Given the description of an element on the screen output the (x, y) to click on. 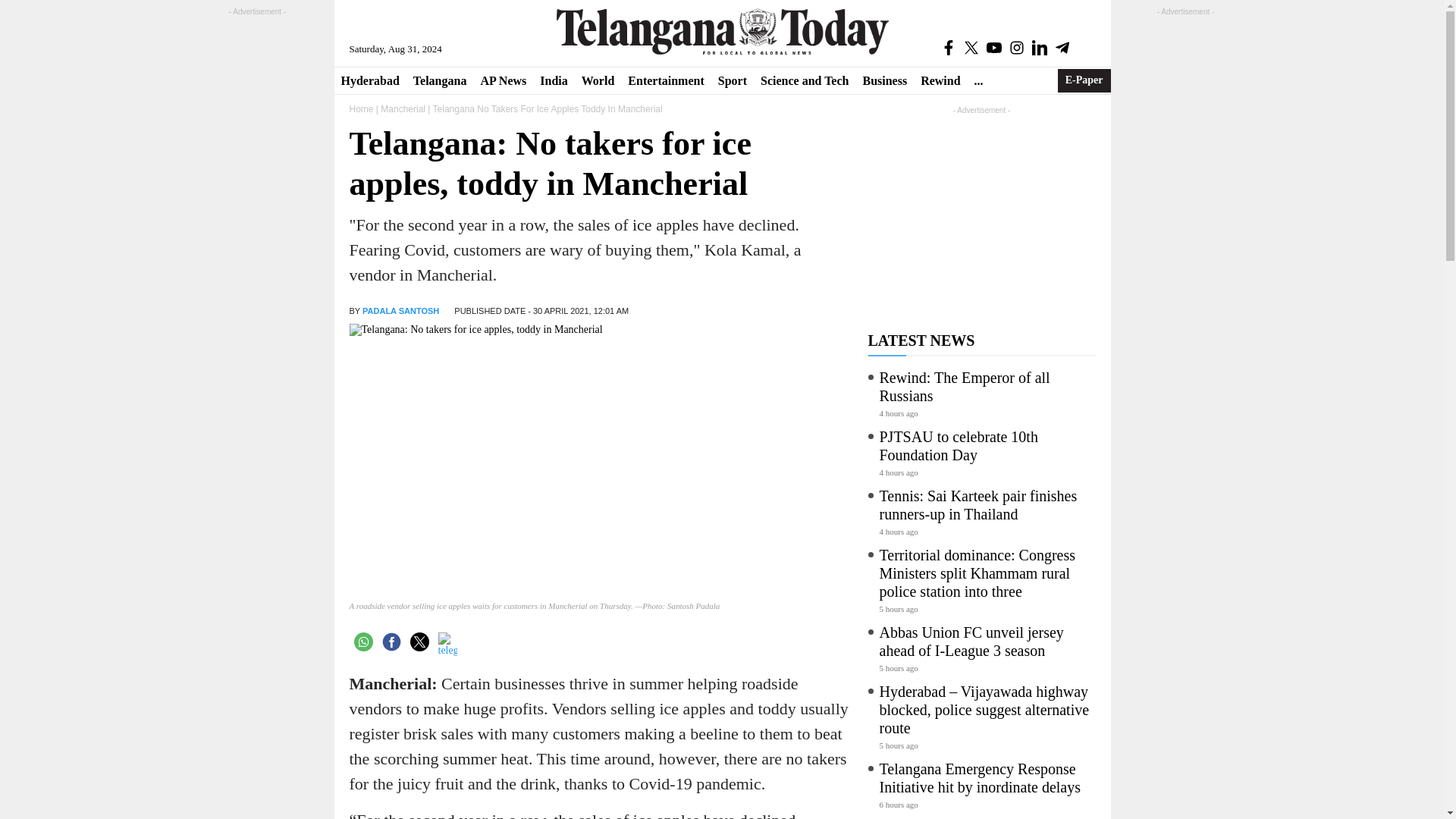
Telangana (440, 80)
Entertainment (665, 80)
Mancherial (402, 109)
Science and Tech (805, 80)
E-Paper (1084, 80)
AP News (502, 80)
India (552, 80)
Rewind (940, 80)
Science and Tech (805, 80)
India (552, 80)
